Given the description of an element on the screen output the (x, y) to click on. 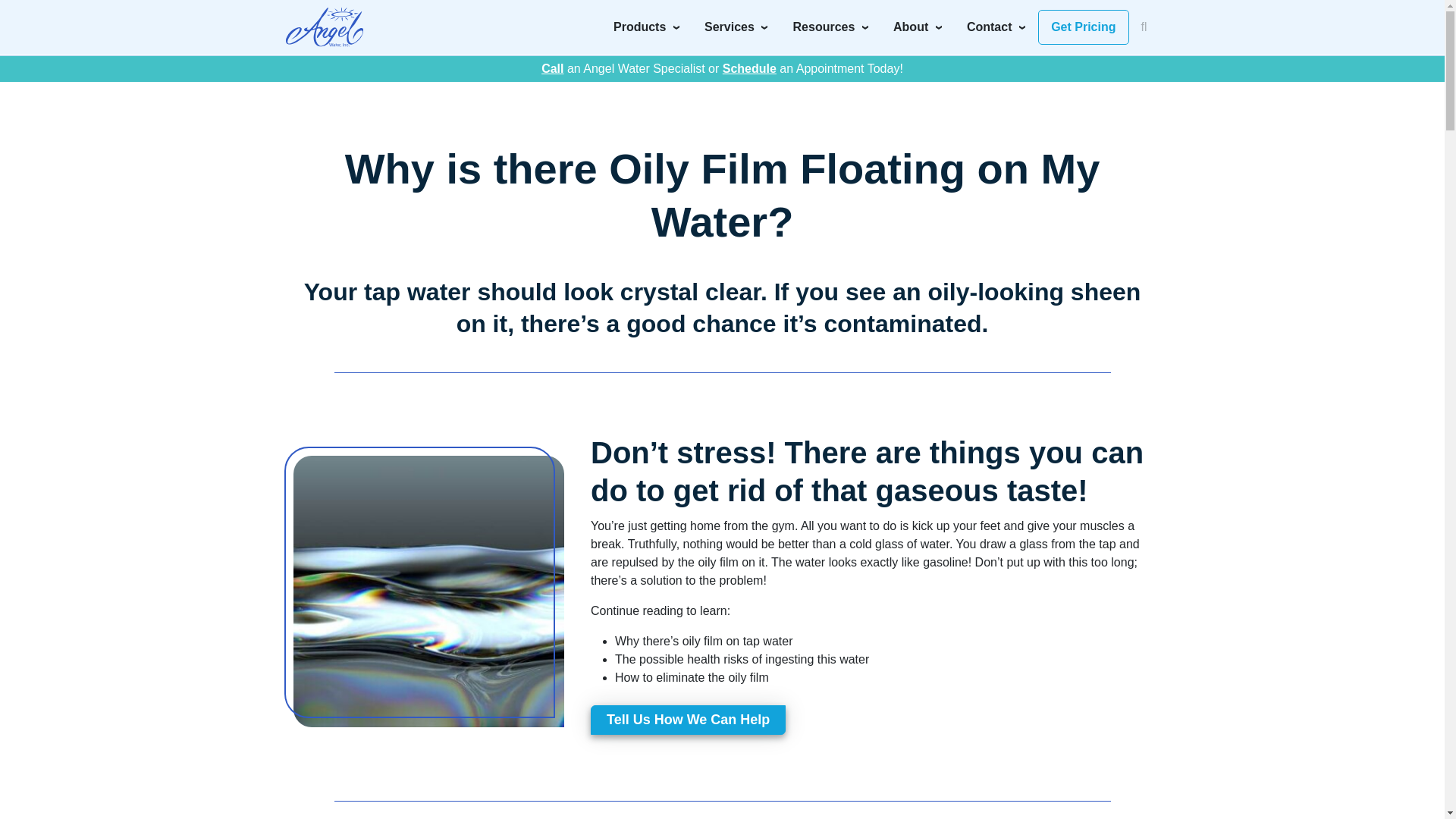
Oily Film on Tap Water (429, 590)
Search (1017, 21)
Get Pricing (1083, 27)
Products (647, 26)
Angel Water (323, 26)
About (917, 26)
Services (736, 26)
Contact (996, 26)
Resources (831, 26)
